Given the description of an element on the screen output the (x, y) to click on. 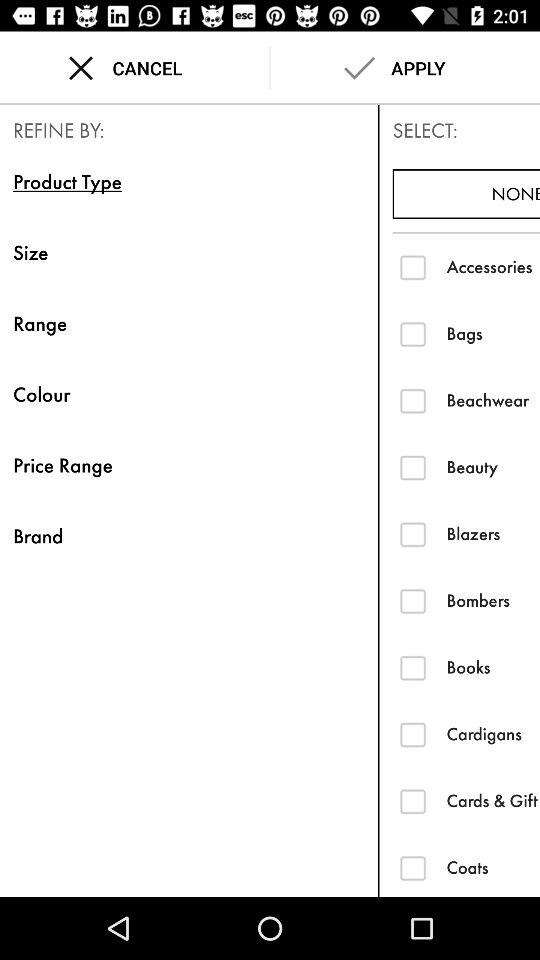
mark bags (412, 333)
